Given the description of an element on the screen output the (x, y) to click on. 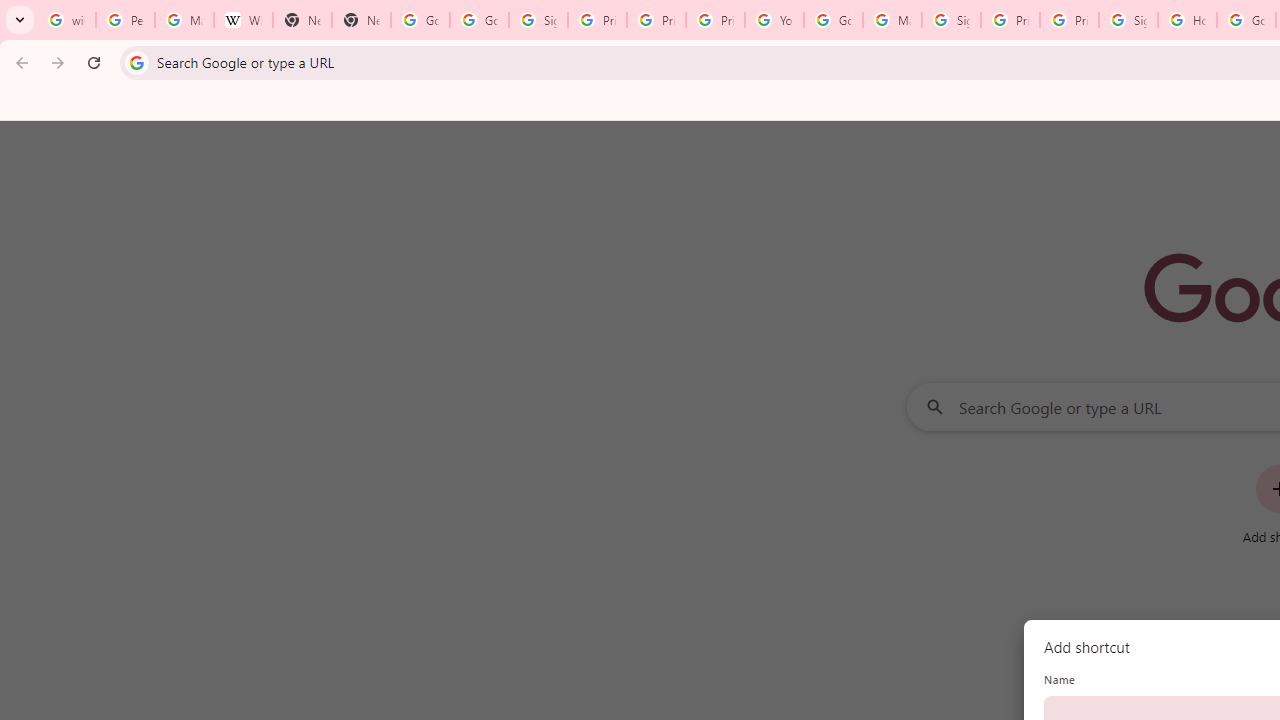
New Tab (360, 20)
Sign in - Google Accounts (950, 20)
Sign in - Google Accounts (1128, 20)
YouTube (774, 20)
